Given the description of an element on the screen output the (x, y) to click on. 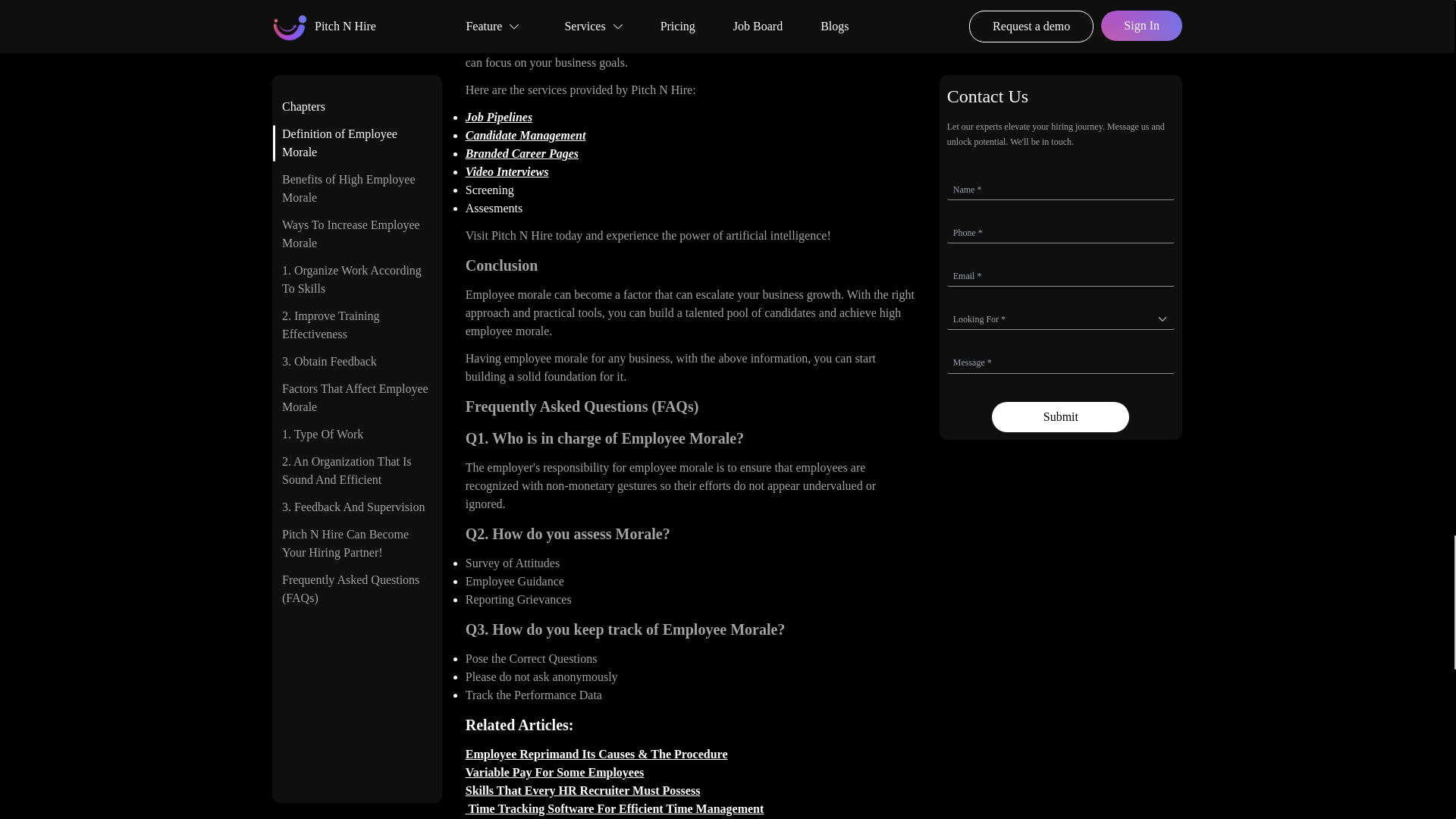
Branded Career Pages (521, 153)
Video Interviews (506, 171)
Pitch N Hire (522, 235)
Job Pipelines (498, 116)
hiring process (778, 43)
Candidate Management (525, 134)
